Given the description of an element on the screen output the (x, y) to click on. 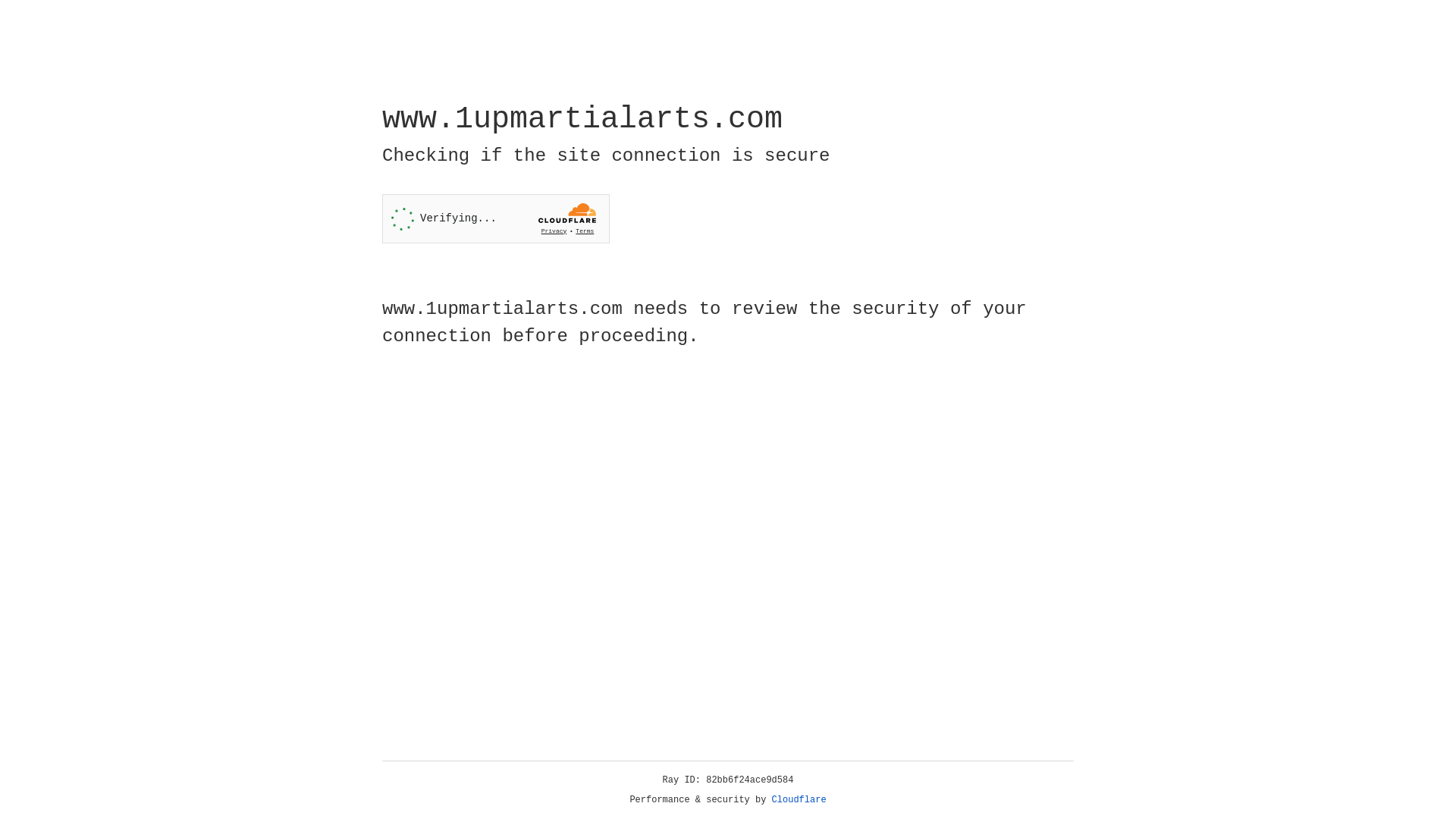
Widget containing a Cloudflare security challenge Element type: hover (495, 218)
Cloudflare Element type: text (798, 799)
